Given the description of an element on the screen output the (x, y) to click on. 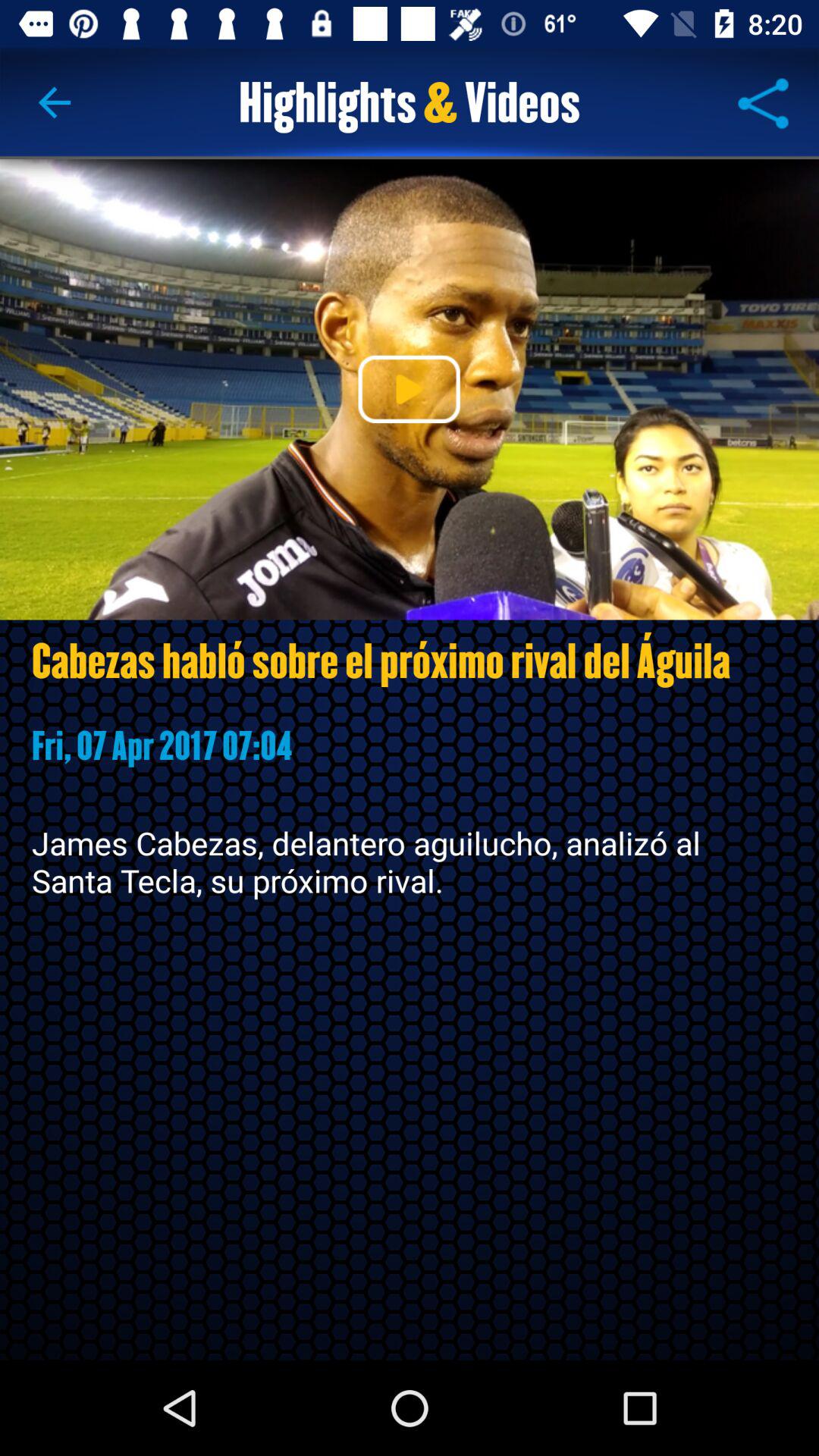
launch the item at the top right corner (763, 103)
